Given the description of an element on the screen output the (x, y) to click on. 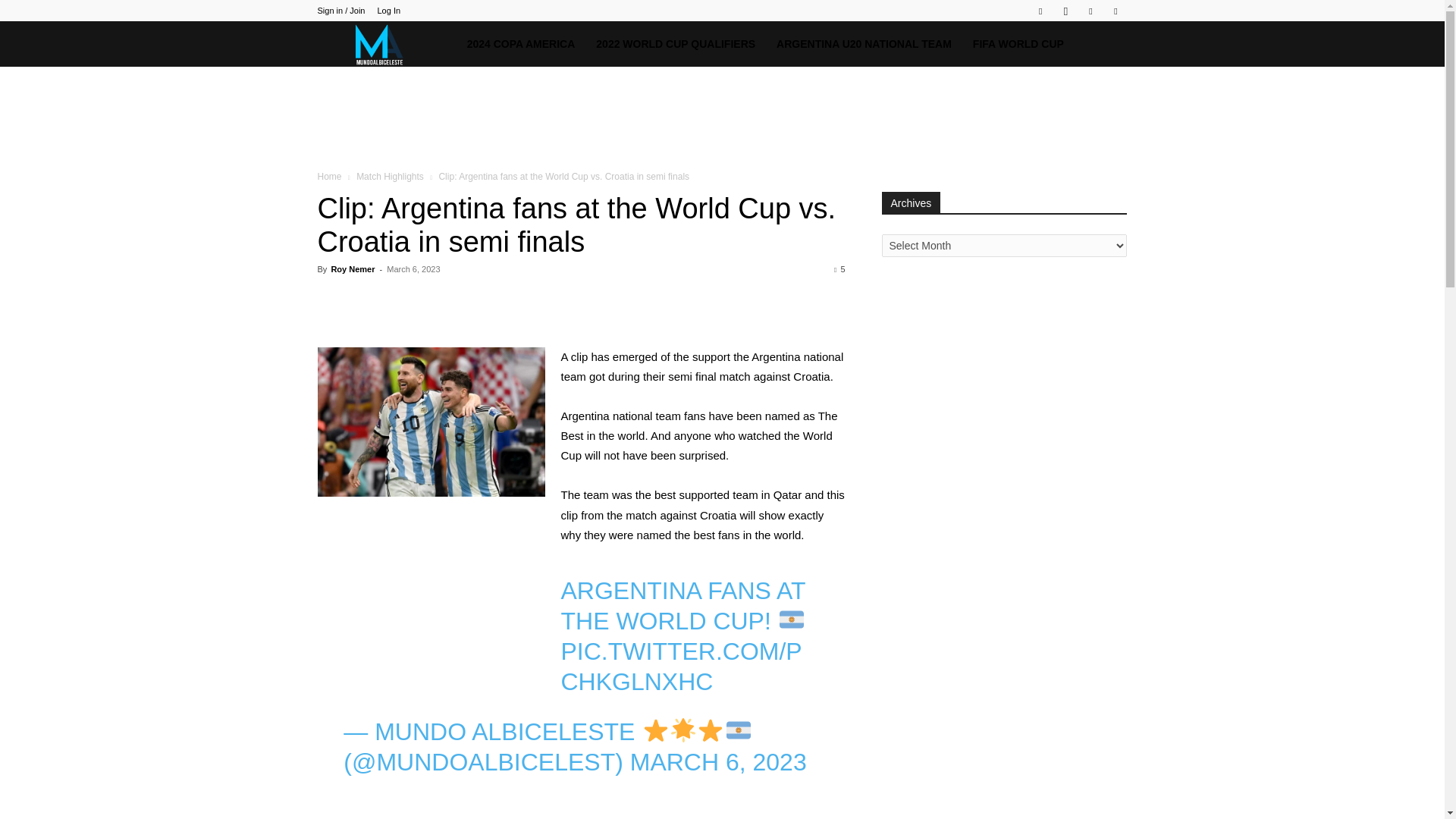
View all posts in Match Highlights (389, 176)
Log In (388, 10)
Facebook (1040, 10)
Youtube (1114, 10)
MARCH 6, 2023 (718, 761)
FIFA WORLD CUP (1018, 43)
5 (839, 268)
ARGENTINA U20 NATIONAL TEAM (863, 43)
Mundo Albiceleste (386, 44)
2024 COPA AMERICA (521, 43)
2022 WORLD CUP QUALIFIERS (675, 43)
Match Highlights (389, 176)
Twitter (1090, 10)
Roy Nemer (352, 268)
Home (328, 176)
